Given the description of an element on the screen output the (x, y) to click on. 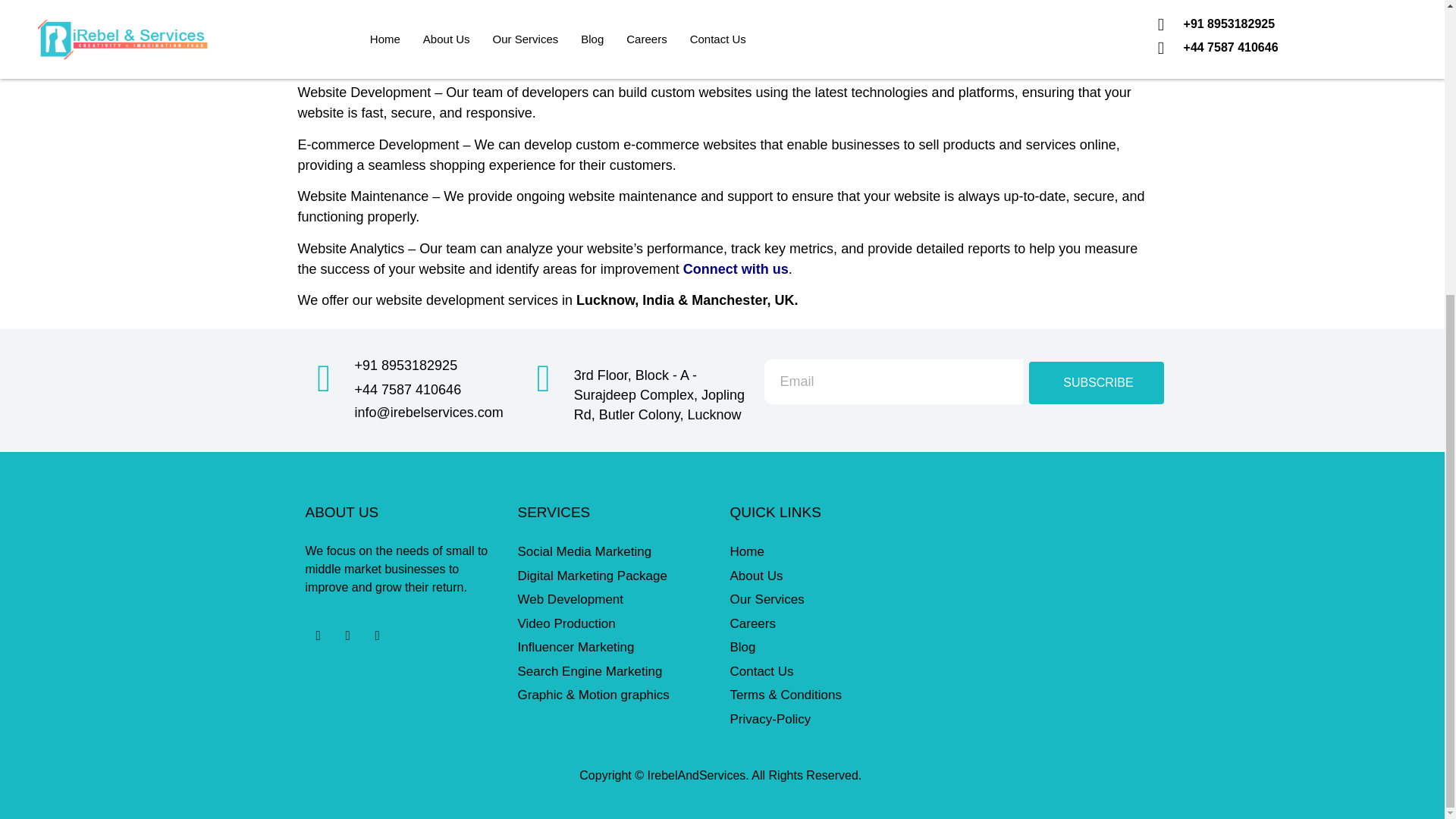
Home (827, 551)
Social Media Marketing (615, 551)
About Us (827, 576)
Digital Marketing Package (615, 576)
Web Development (615, 599)
SUBSCRIBE (1096, 382)
Influencer Marketing (615, 647)
Connect with us (735, 268)
Video Production (615, 623)
Search Engine Marketing (615, 671)
